Given the description of an element on the screen output the (x, y) to click on. 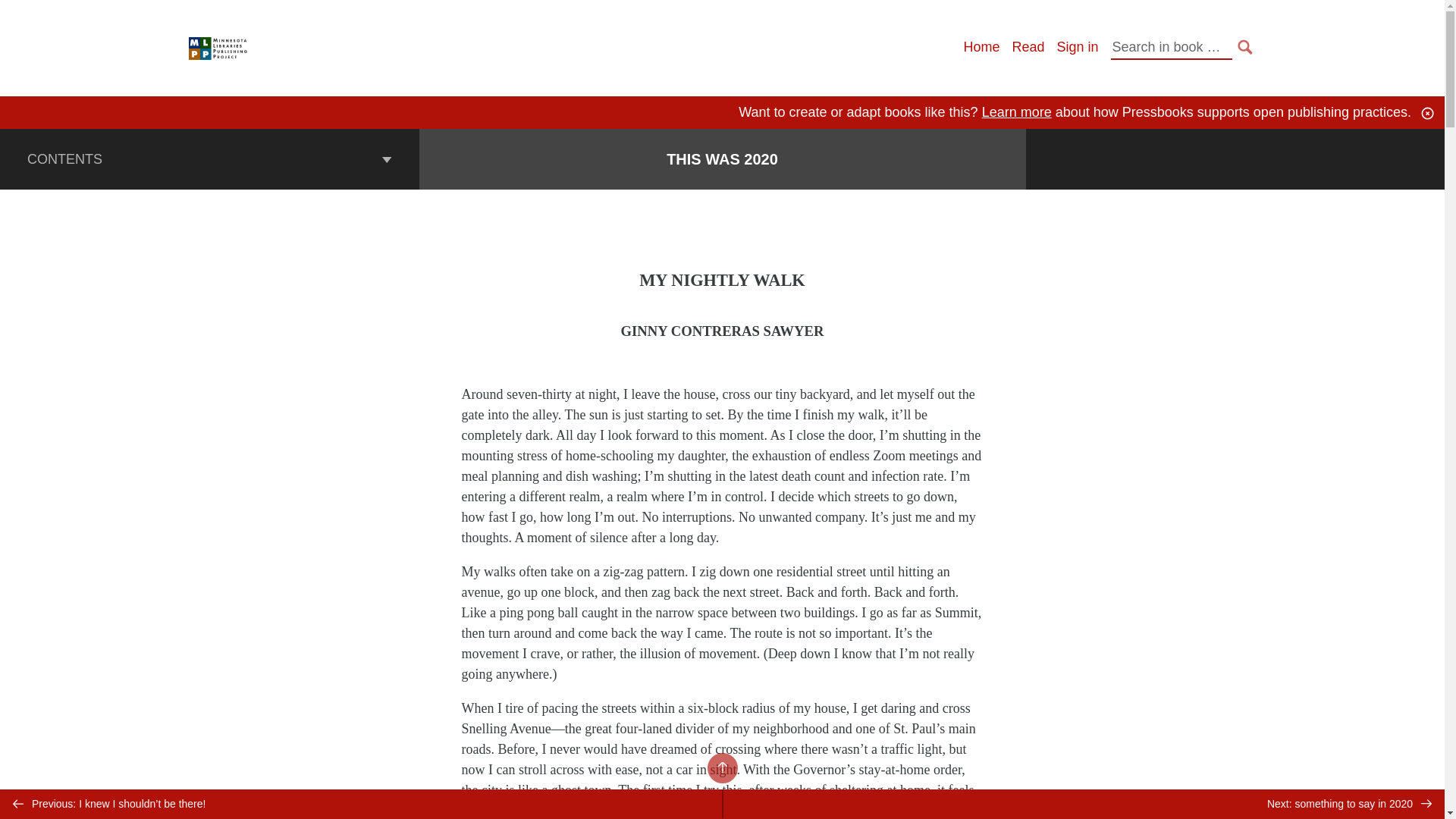
Read (1027, 46)
Home (980, 46)
CONTENTS (209, 158)
THIS WAS 2020 (721, 159)
Learn more (1016, 111)
BACK TO TOP (721, 767)
Sign in (1077, 46)
